Given the description of an element on the screen output the (x, y) to click on. 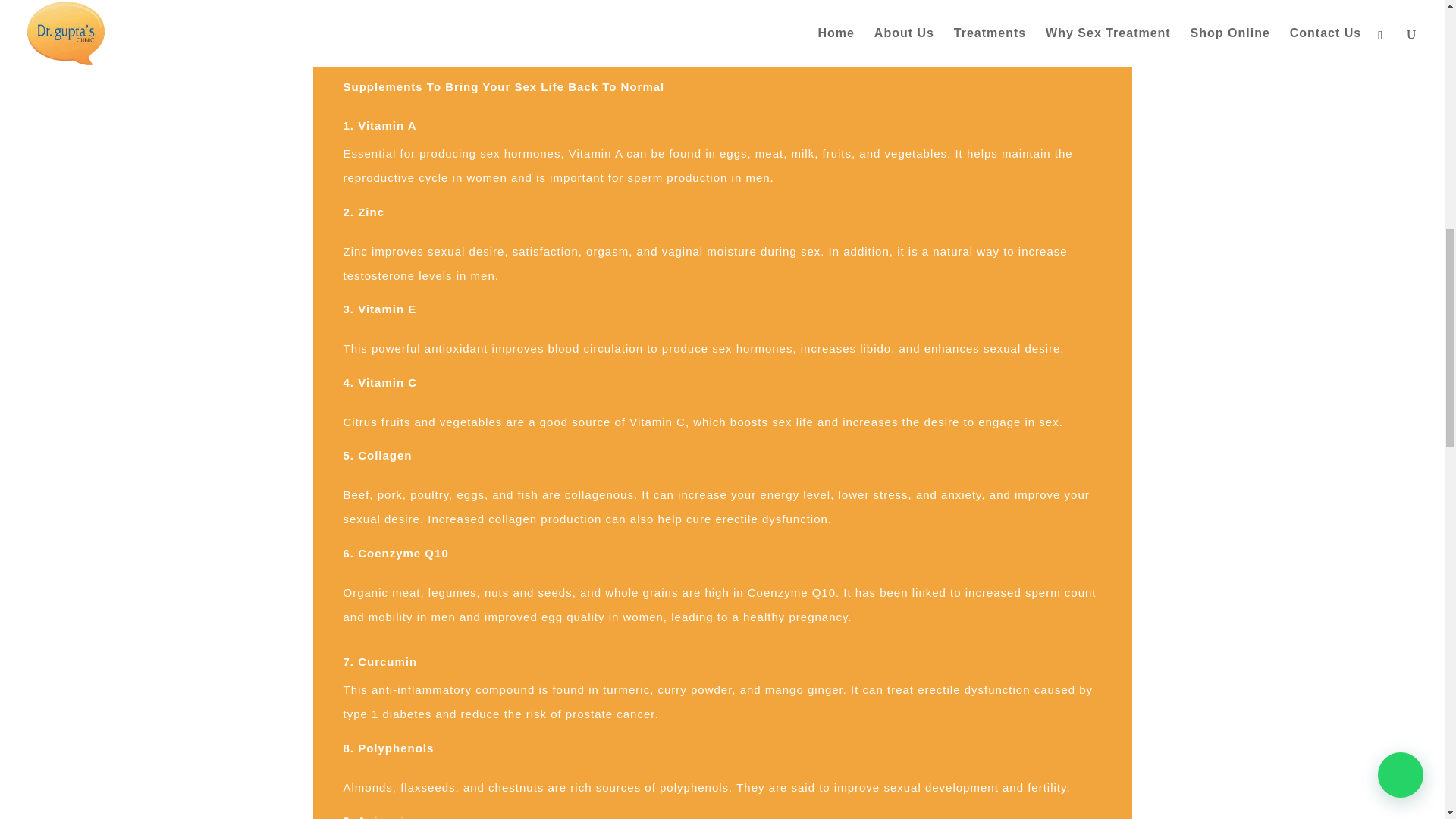
sperm production in men (698, 177)
help cure erectile dysfunction (743, 518)
Conclusion (390, 43)
10. Omega 3 fatty acids (453, 24)
9. Apigenin  (416, 7)
sexual desire (1021, 348)
